Given the description of an element on the screen output the (x, y) to click on. 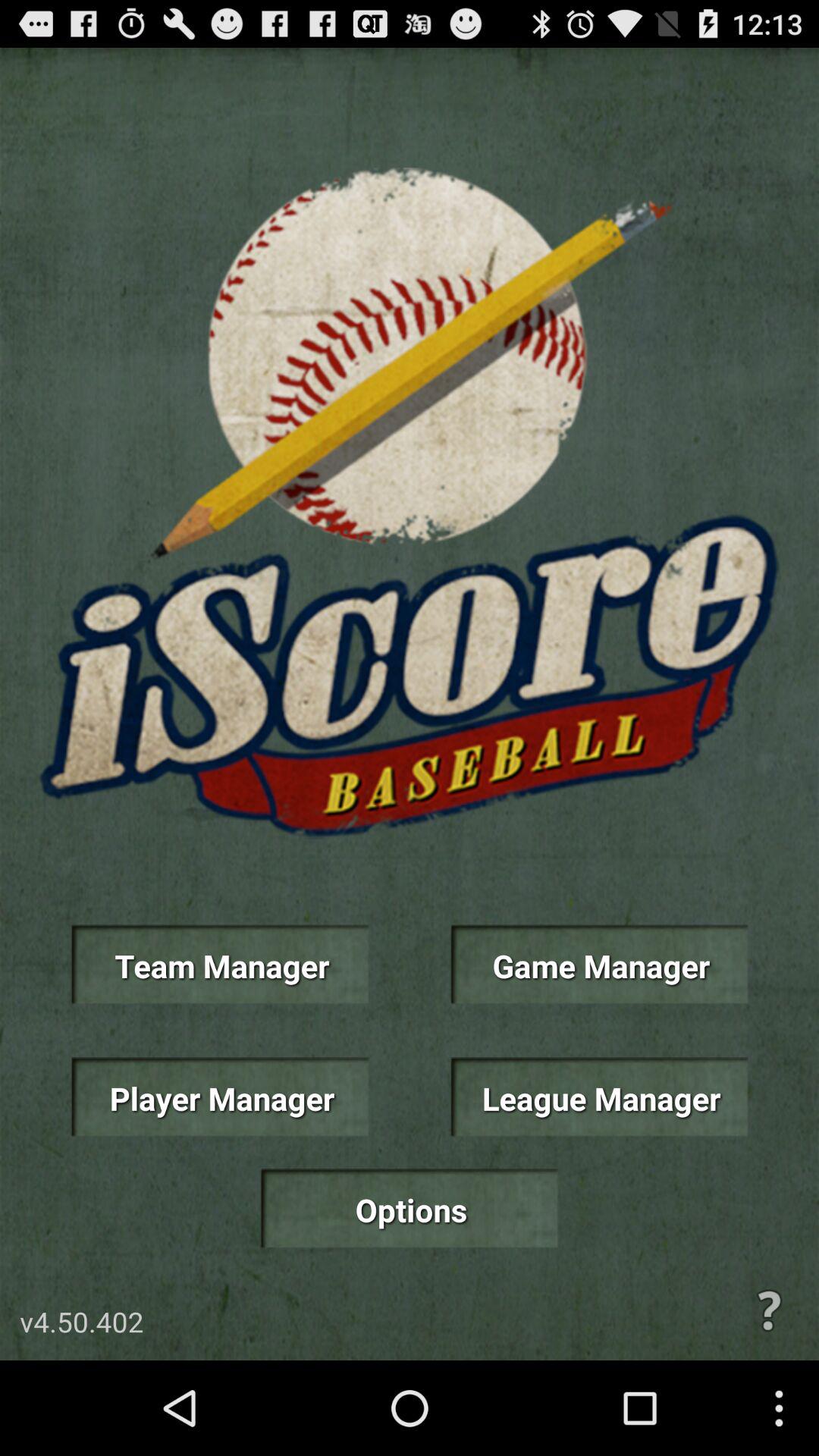
click icon to the left of game manager (219, 964)
